Given the description of an element on the screen output the (x, y) to click on. 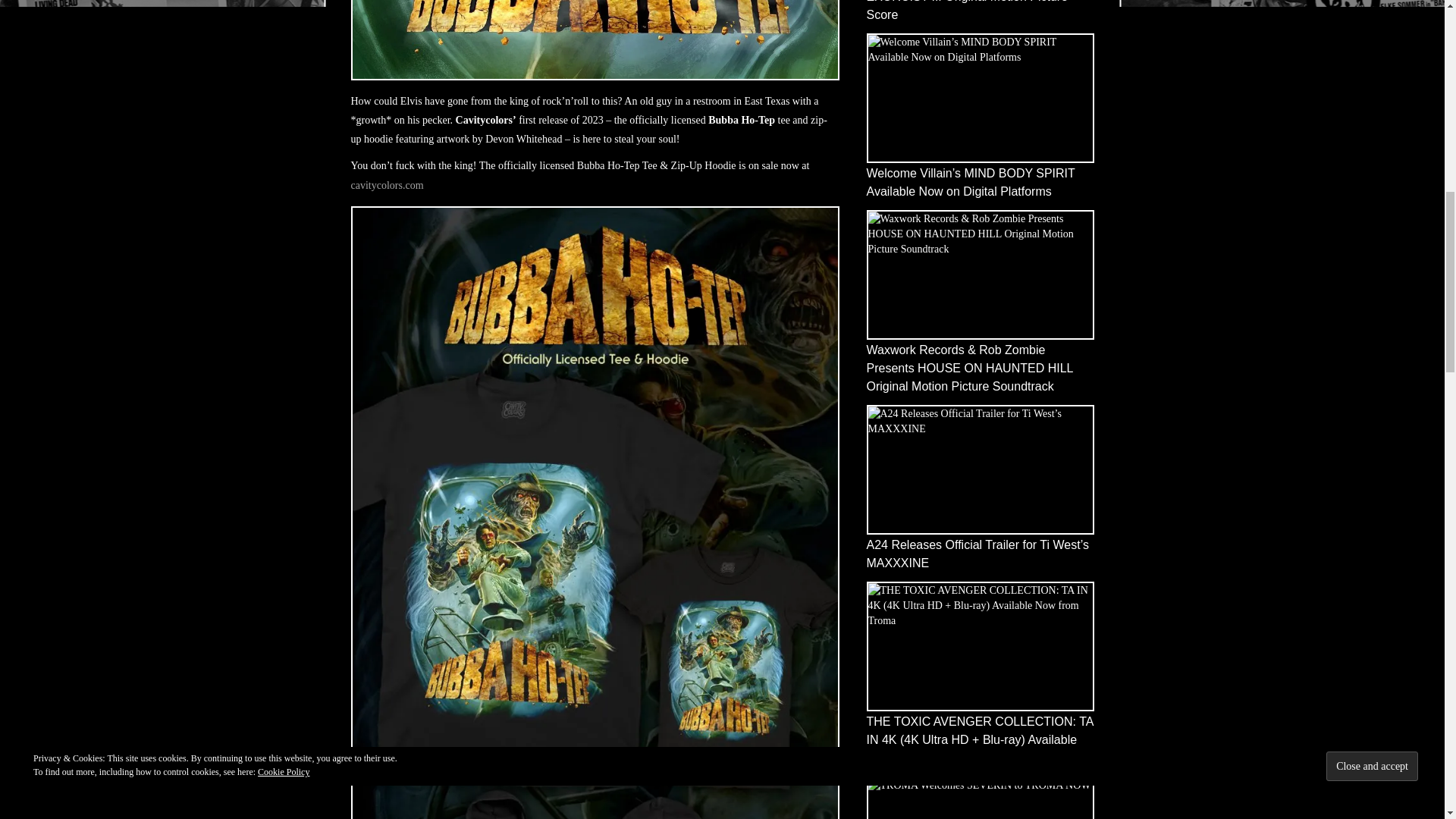
cavitycolors.com (386, 184)
